Given the description of an element on the screen output the (x, y) to click on. 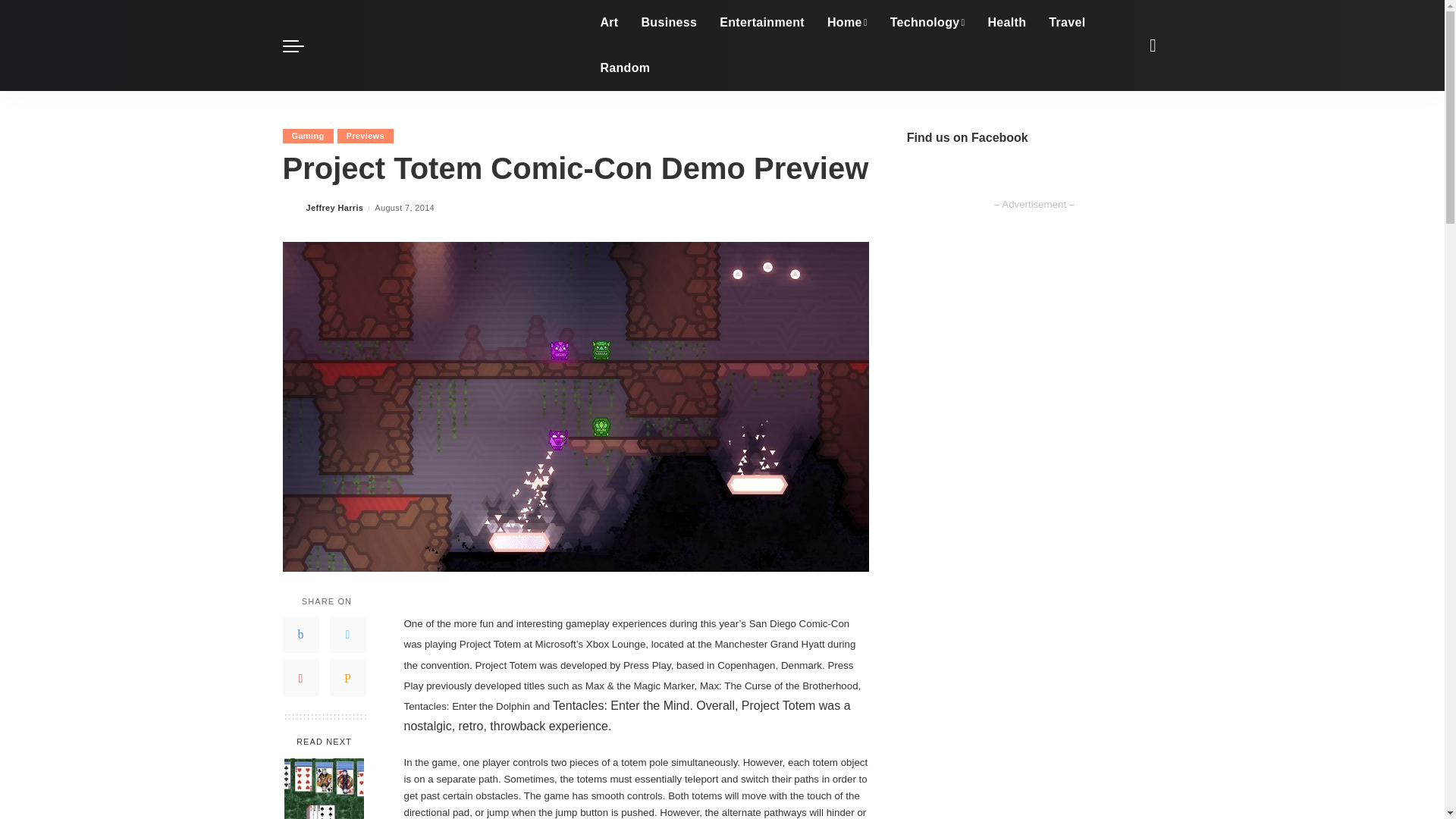
Gaming (307, 135)
Travel (1066, 22)
Pinterest (300, 678)
Entertainment (761, 22)
Business (667, 22)
Facebook (300, 634)
Explosion (447, 44)
Jeffrey Harris (334, 207)
Search (1140, 121)
Random (624, 67)
